Given the description of an element on the screen output the (x, y) to click on. 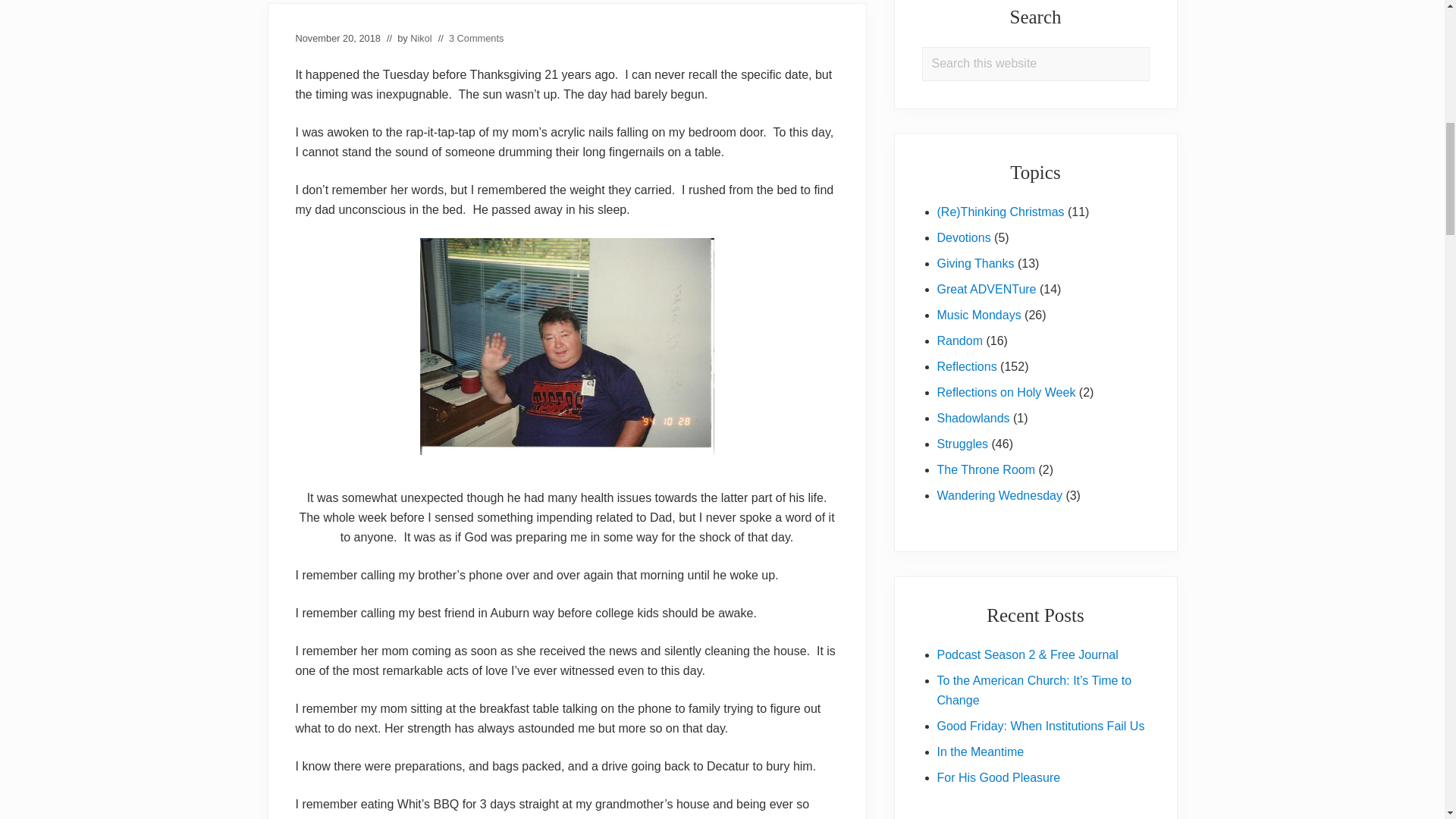
Nikol (420, 38)
3 Comments (475, 38)
3 Comments (475, 38)
